Given the description of an element on the screen output the (x, y) to click on. 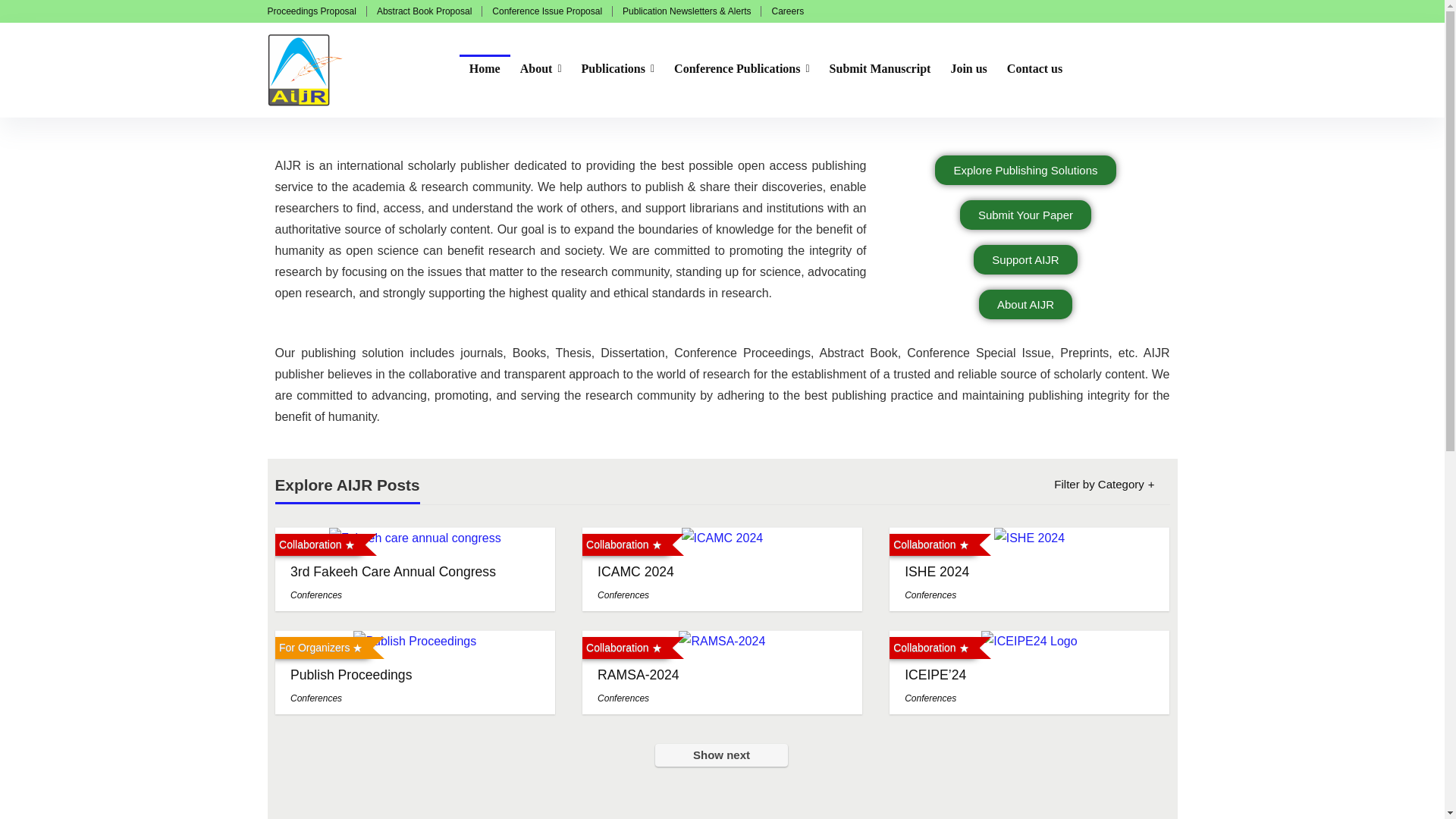
Home (485, 69)
Publications (618, 69)
Proceedings Proposal (310, 10)
About (541, 69)
Abstract Book Proposal (424, 10)
Conference Issue Proposal (547, 10)
Careers (787, 10)
